Given the description of an element on the screen output the (x, y) to click on. 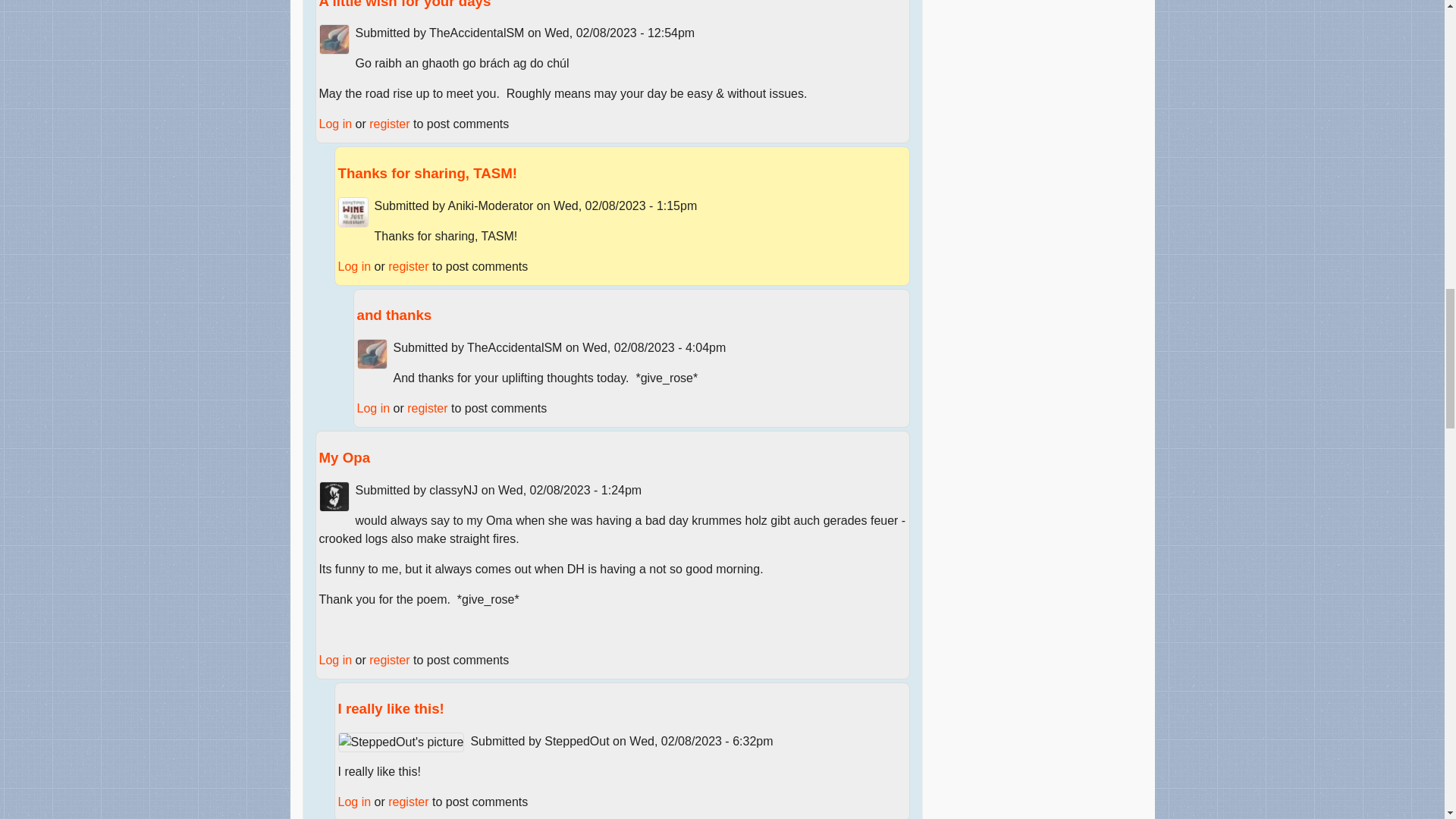
Log in (354, 266)
A little wish for your days (404, 4)
Thanks for sharing, TASM! (427, 172)
and thanks (393, 314)
register (389, 123)
classyNJ's picture (333, 496)
SteppedOut's picture (400, 742)
register (408, 266)
TheAccidentalSM's picture (371, 354)
My Opa (343, 457)
Log in (335, 123)
Log in (373, 408)
TheAccidentalSM's picture (333, 39)
Log in (335, 659)
Aniki-Moderator's picture (352, 212)
